Given the description of an element on the screen output the (x, y) to click on. 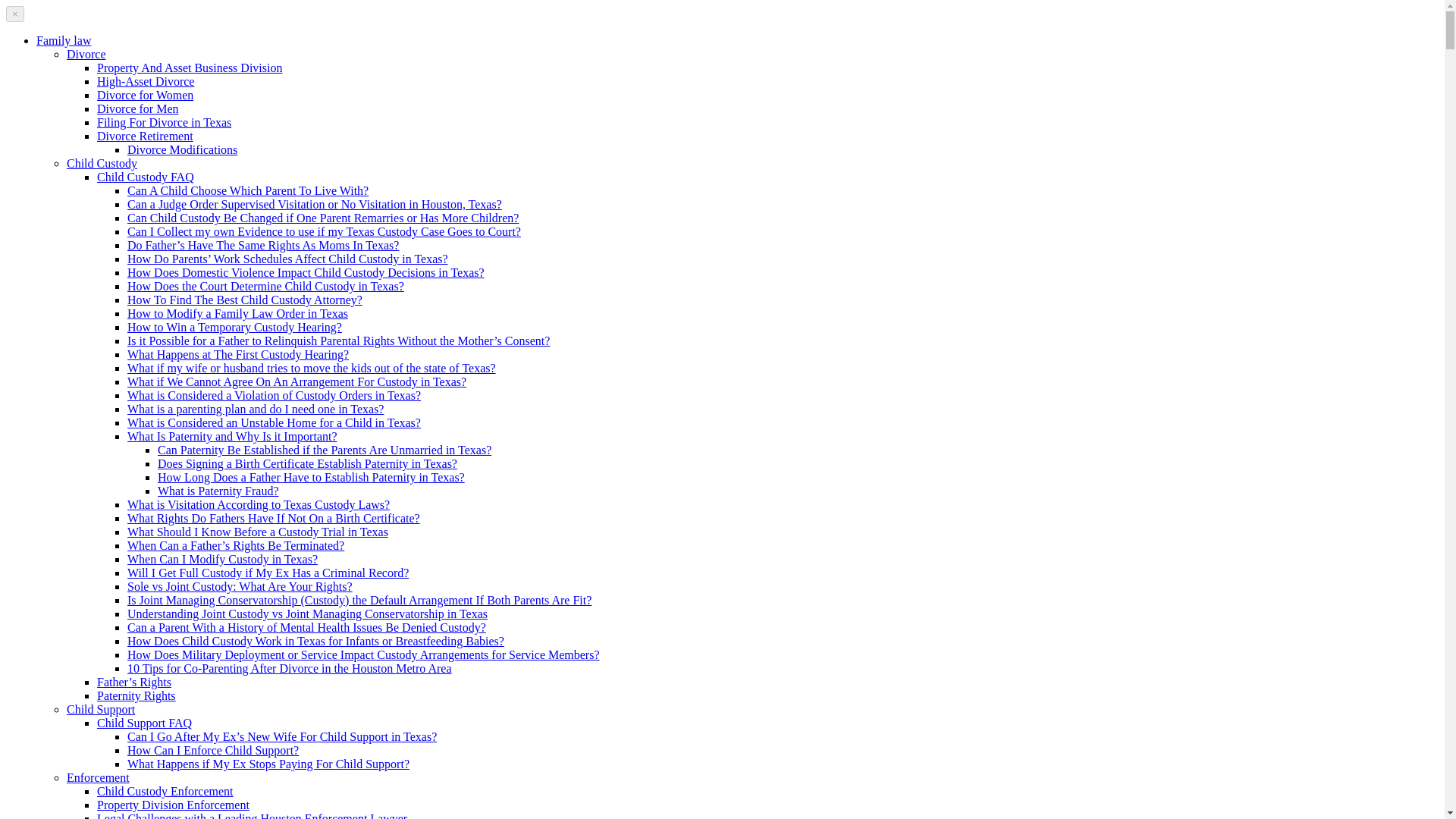
How to Modify a Family Law Order in Texas (237, 313)
What Happens at The First Custody Hearing? (238, 354)
When Can I Modify Custody in Texas? (222, 558)
Divorce Modifications (182, 149)
Divorce for Men (138, 108)
What is Considered an Unstable Home for a Child in Texas? (274, 422)
How Long Does a Father Have to Establish Paternity in Texas? (310, 477)
Divorce (86, 53)
Property And Asset Business Division (189, 67)
